Given the description of an element on the screen output the (x, y) to click on. 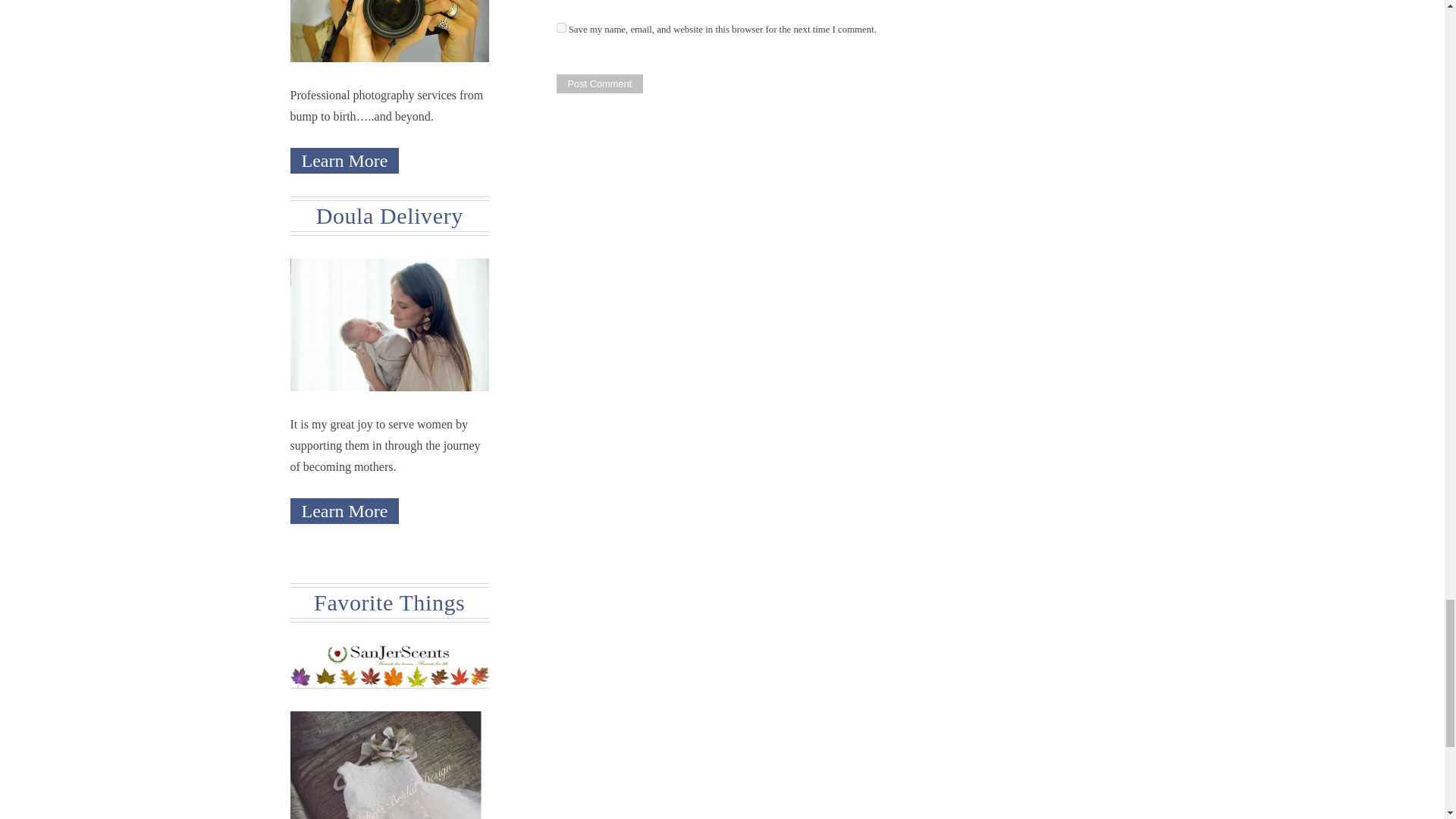
Post Comment (599, 83)
yes (561, 27)
Post Comment (599, 83)
